Given the description of an element on the screen output the (x, y) to click on. 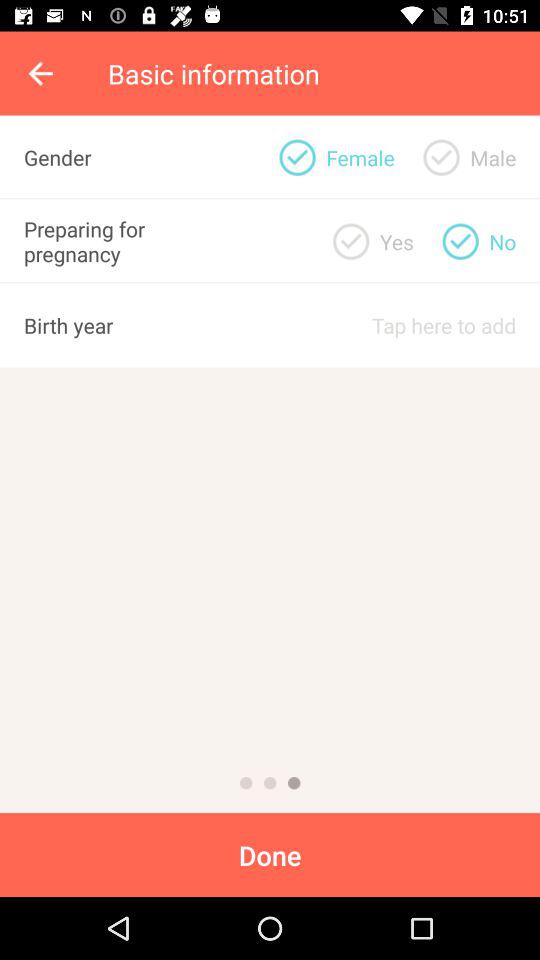
select item below the basic information icon (297, 157)
